Given the description of an element on the screen output the (x, y) to click on. 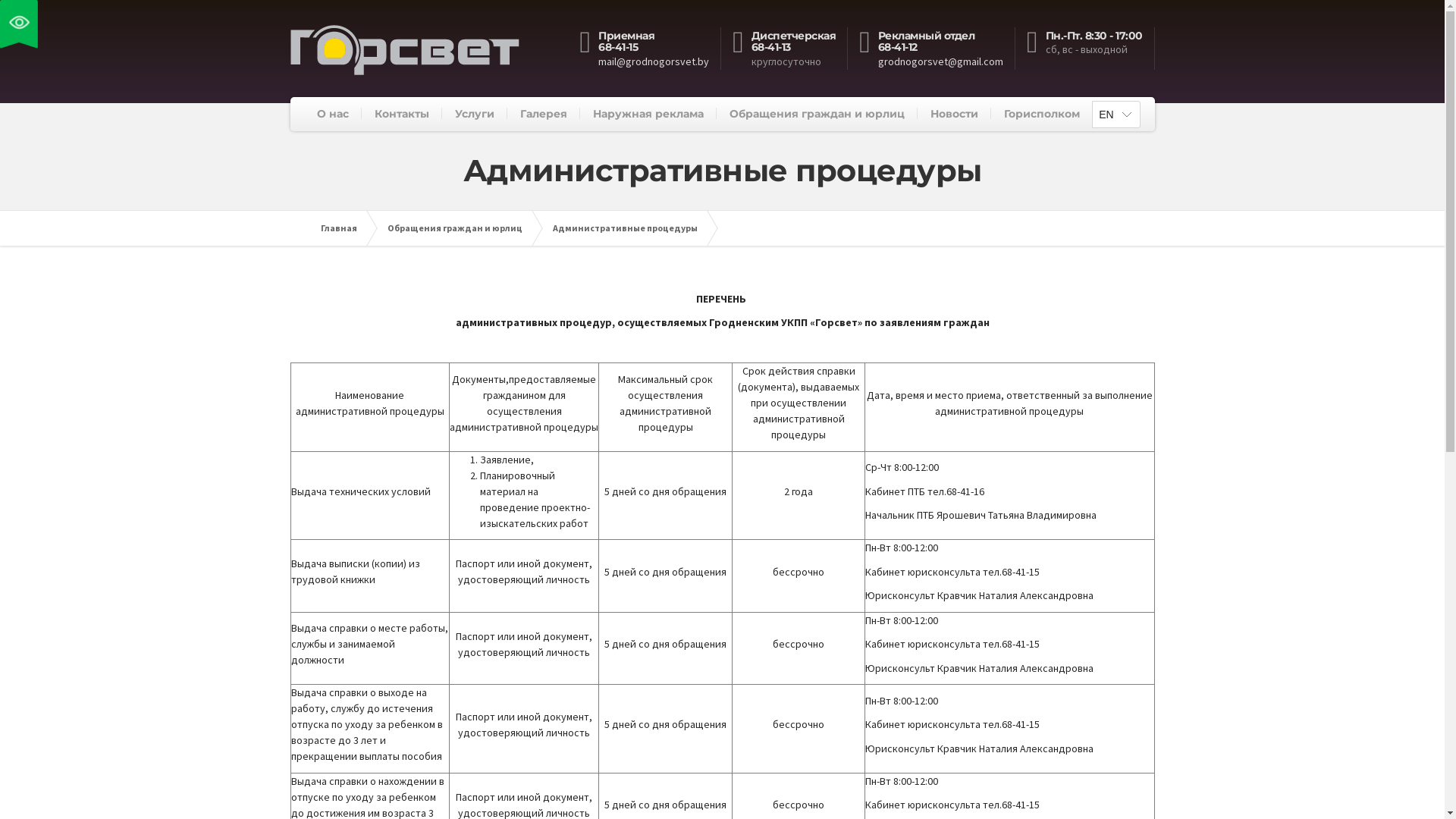
mail@grodnogorsvet.by Element type: text (653, 61)
grodnogorsvet@gmail.com Element type: text (940, 61)
